Given the description of an element on the screen output the (x, y) to click on. 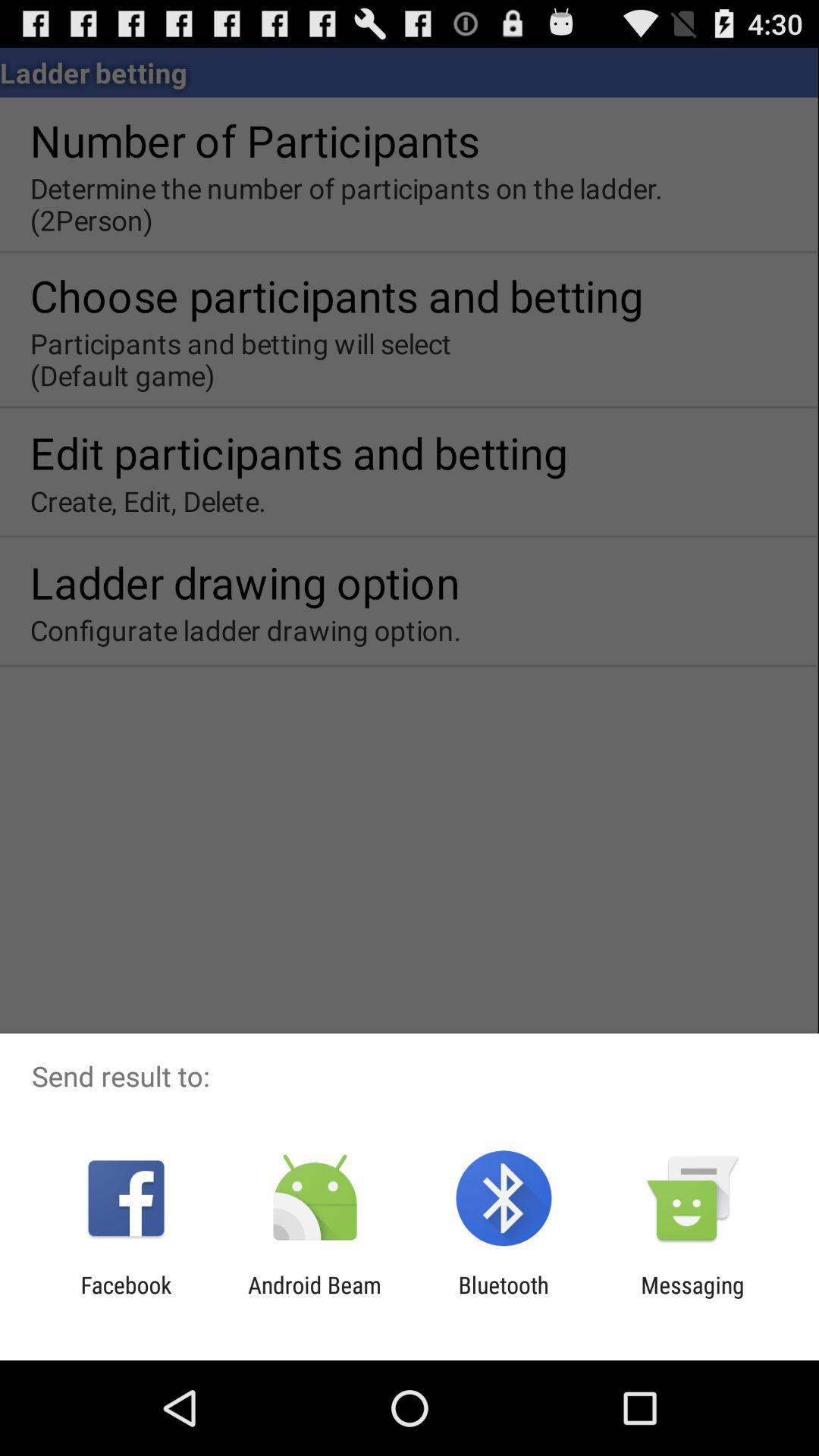
select facebook (125, 1298)
